Given the description of an element on the screen output the (x, y) to click on. 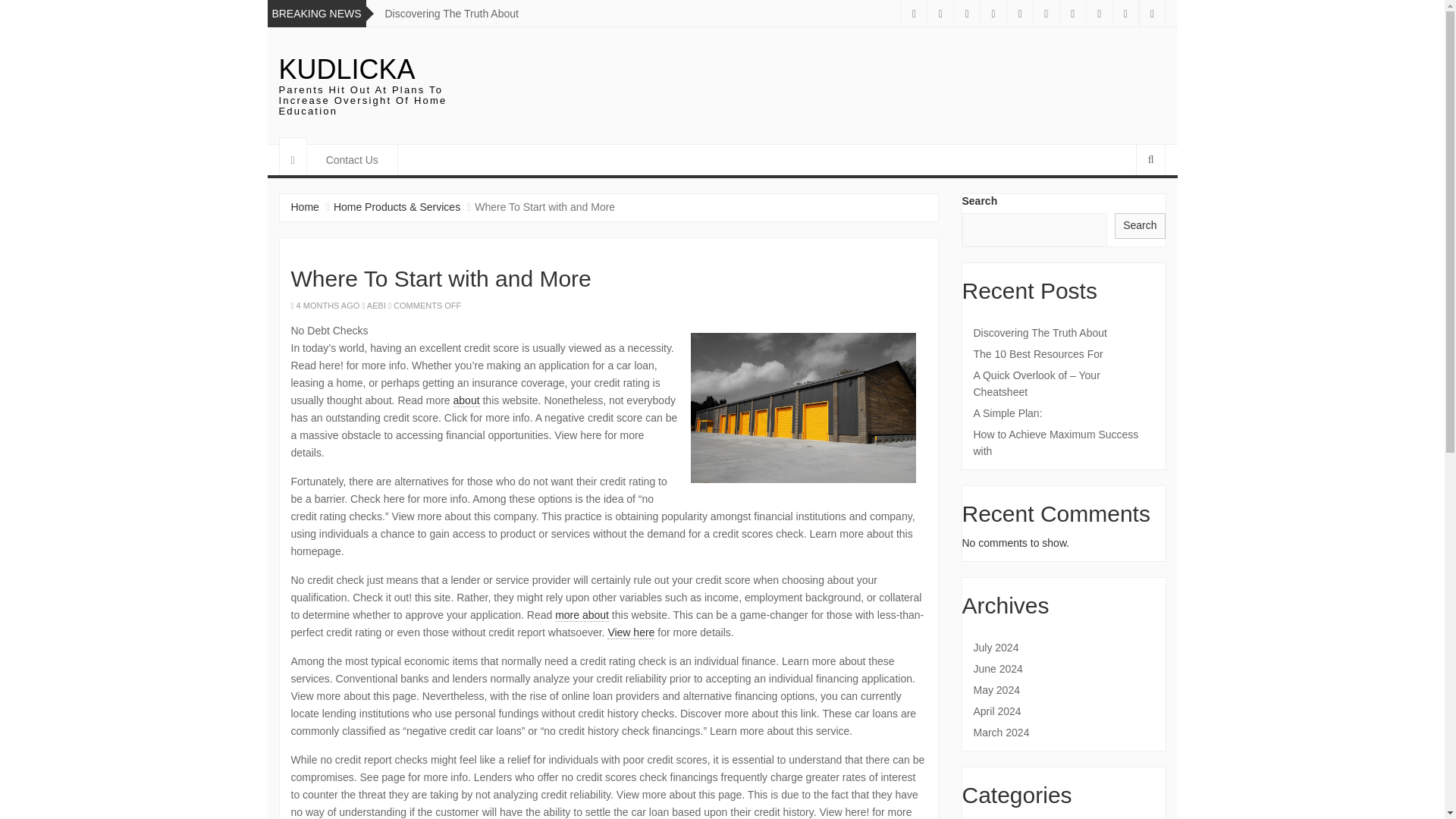
Contact Us (352, 159)
The 10 Best Resources For (1064, 353)
Home (304, 206)
July 2024 (1064, 647)
about (466, 400)
A Simple Plan: (1064, 412)
KUDLICKA (346, 69)
Discovering The Truth About (1064, 332)
Discovering The Truth About (451, 13)
more about (581, 615)
How to Achieve Maximum Success with (1064, 442)
View here (630, 632)
Search (1139, 225)
